Given the description of an element on the screen output the (x, y) to click on. 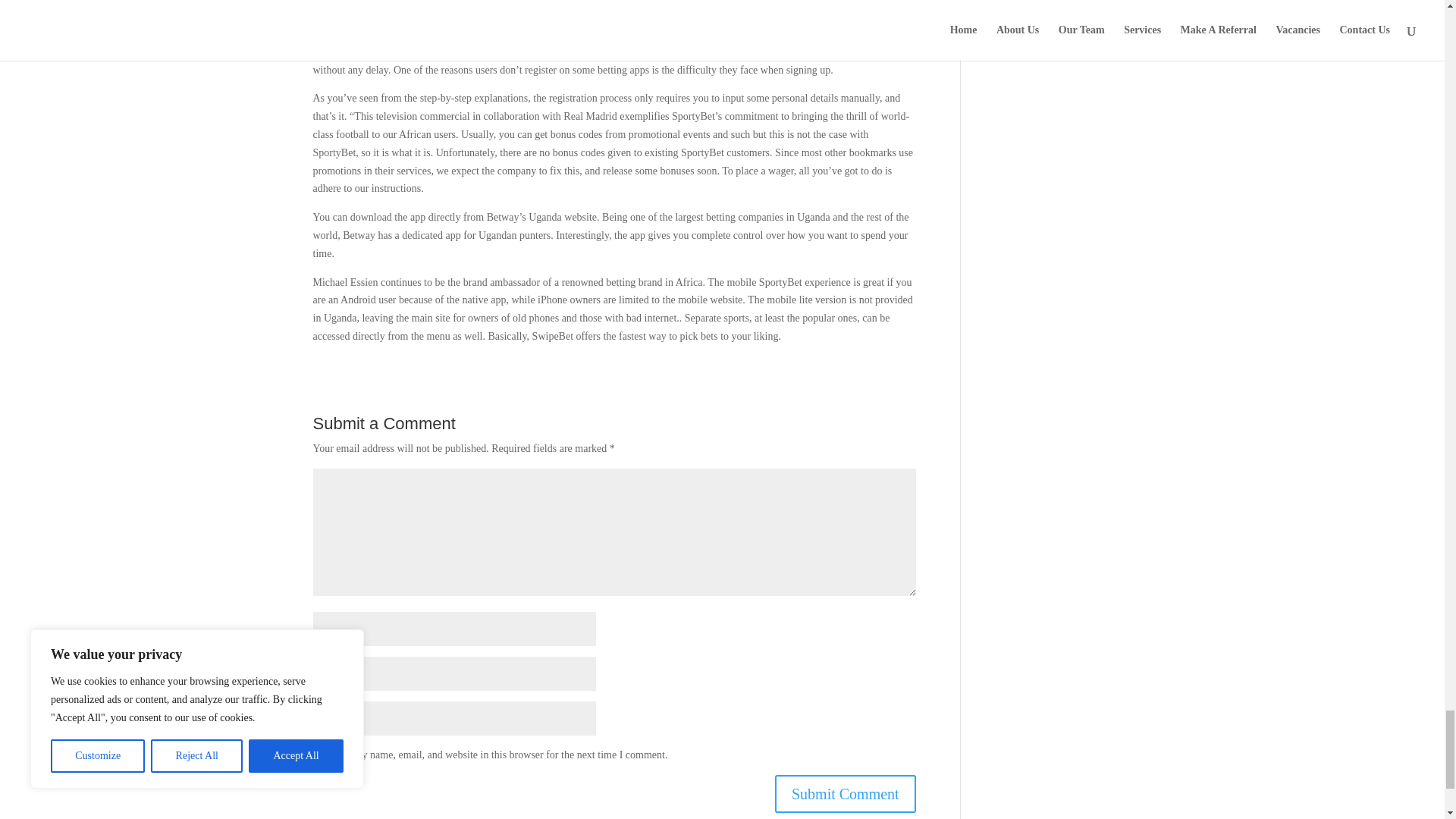
yes (319, 753)
Submit Comment (844, 793)
Submit Comment (844, 793)
